Given the description of an element on the screen output the (x, y) to click on. 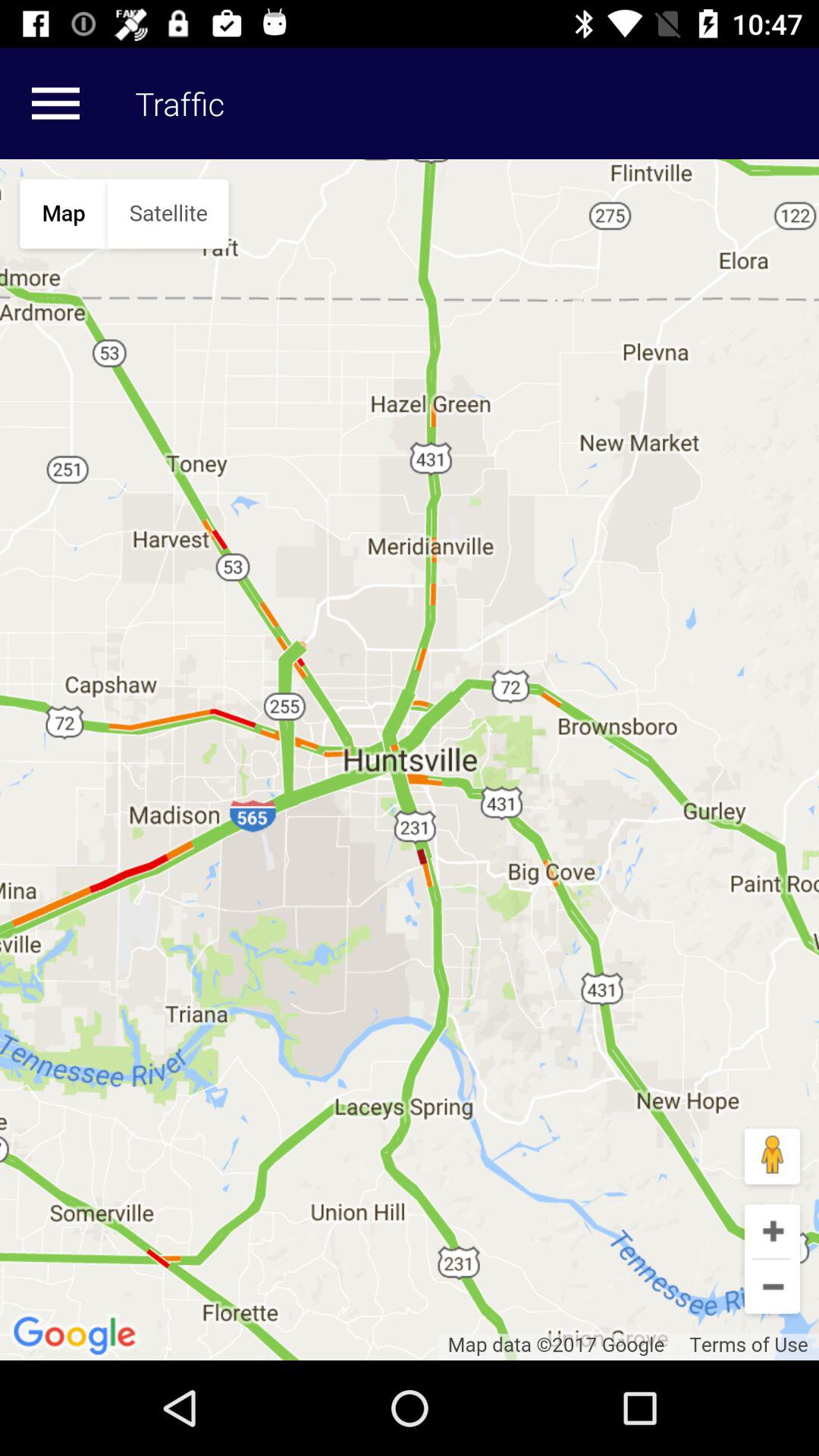
more details (55, 103)
